Given the description of an element on the screen output the (x, y) to click on. 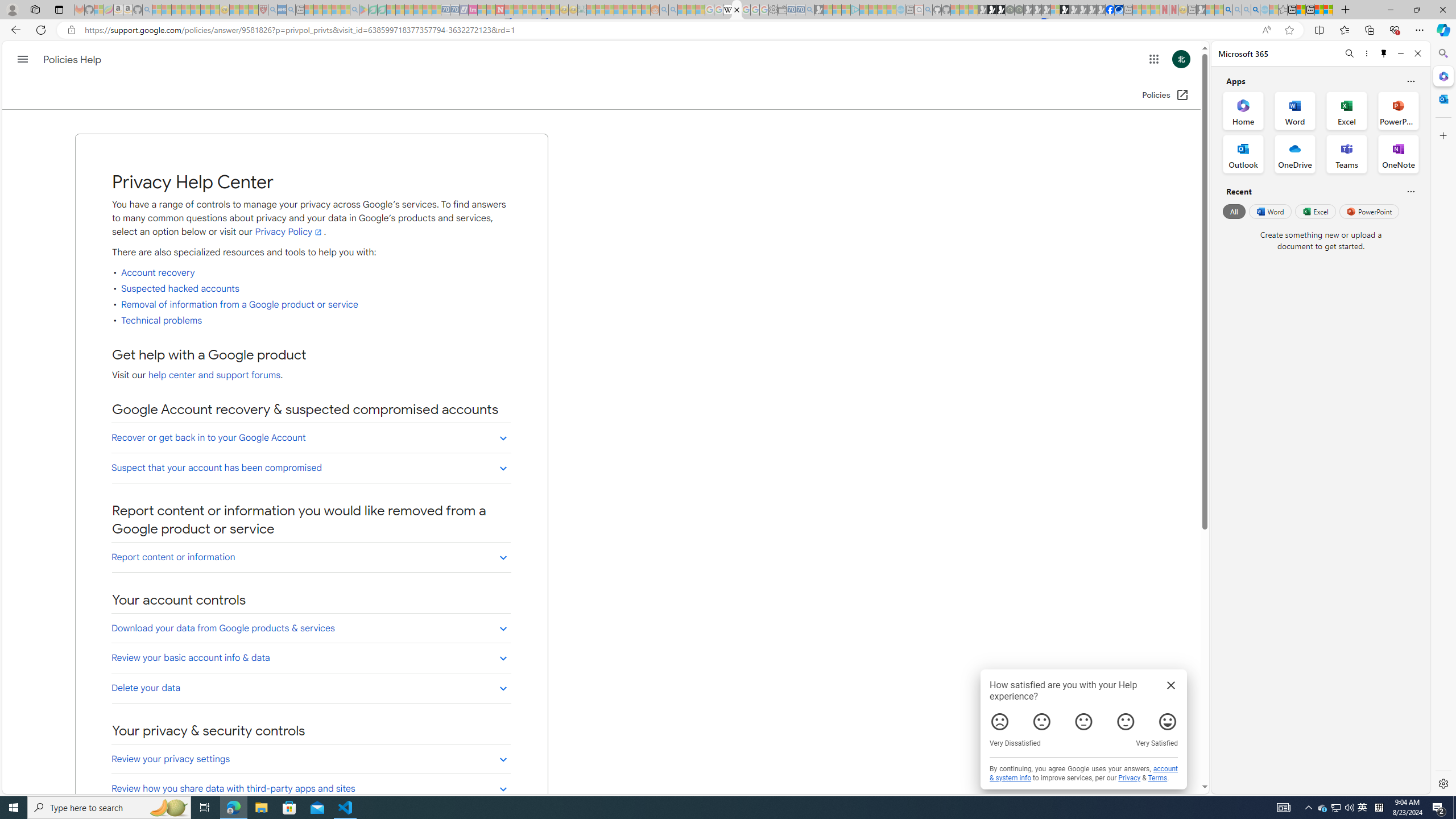
Teams Office App (1346, 154)
Excel (1315, 210)
Close Microsoft 365 pane (1442, 76)
Review your privacy settings (311, 758)
